Given the description of an element on the screen output the (x, y) to click on. 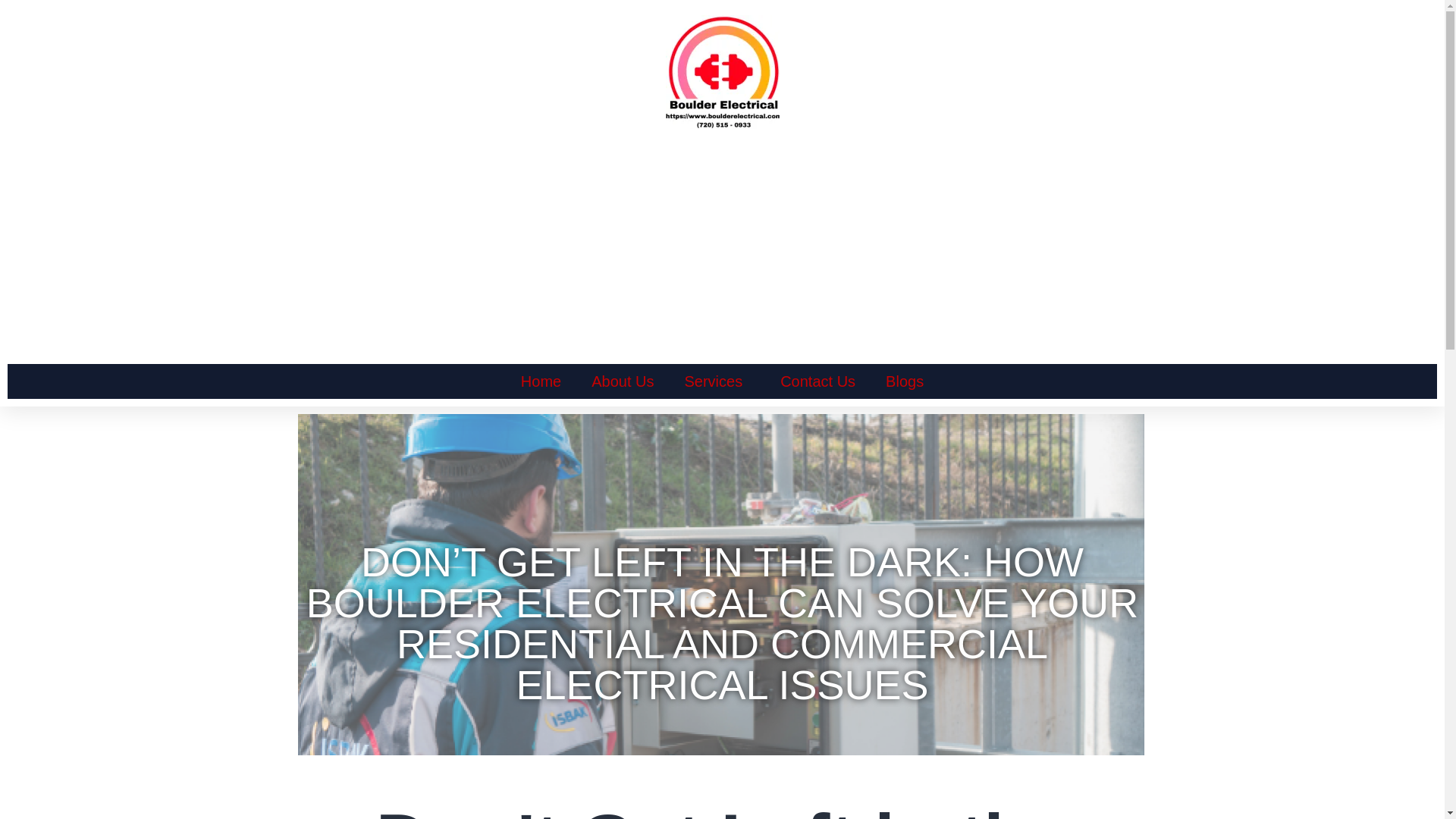
Home (540, 380)
Services (716, 380)
About Us (622, 380)
Blogs (904, 380)
Contact Us (817, 380)
